Given the description of an element on the screen output the (x, y) to click on. 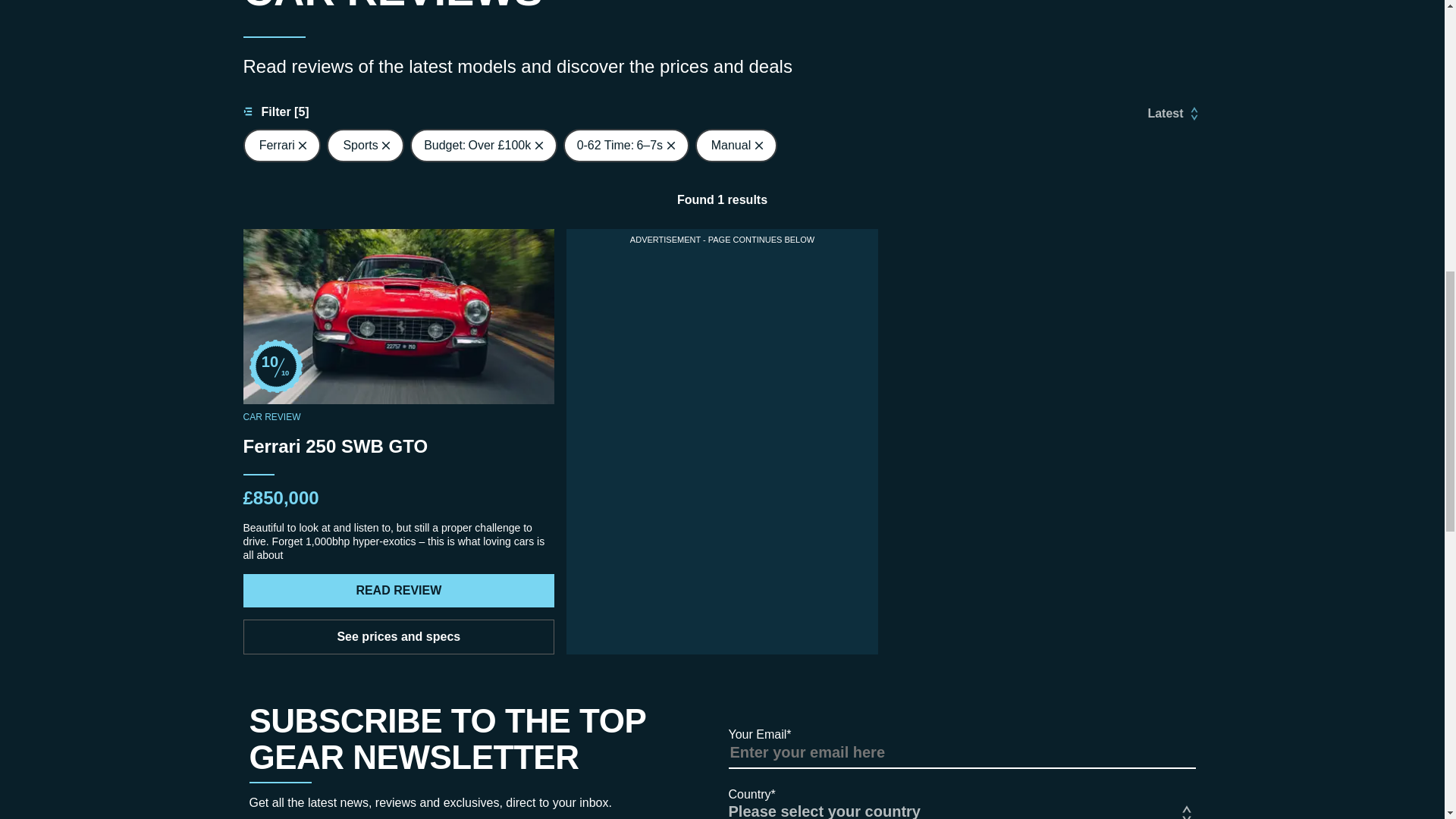
3rd party ad content (721, 344)
